Given the description of an element on the screen output the (x, y) to click on. 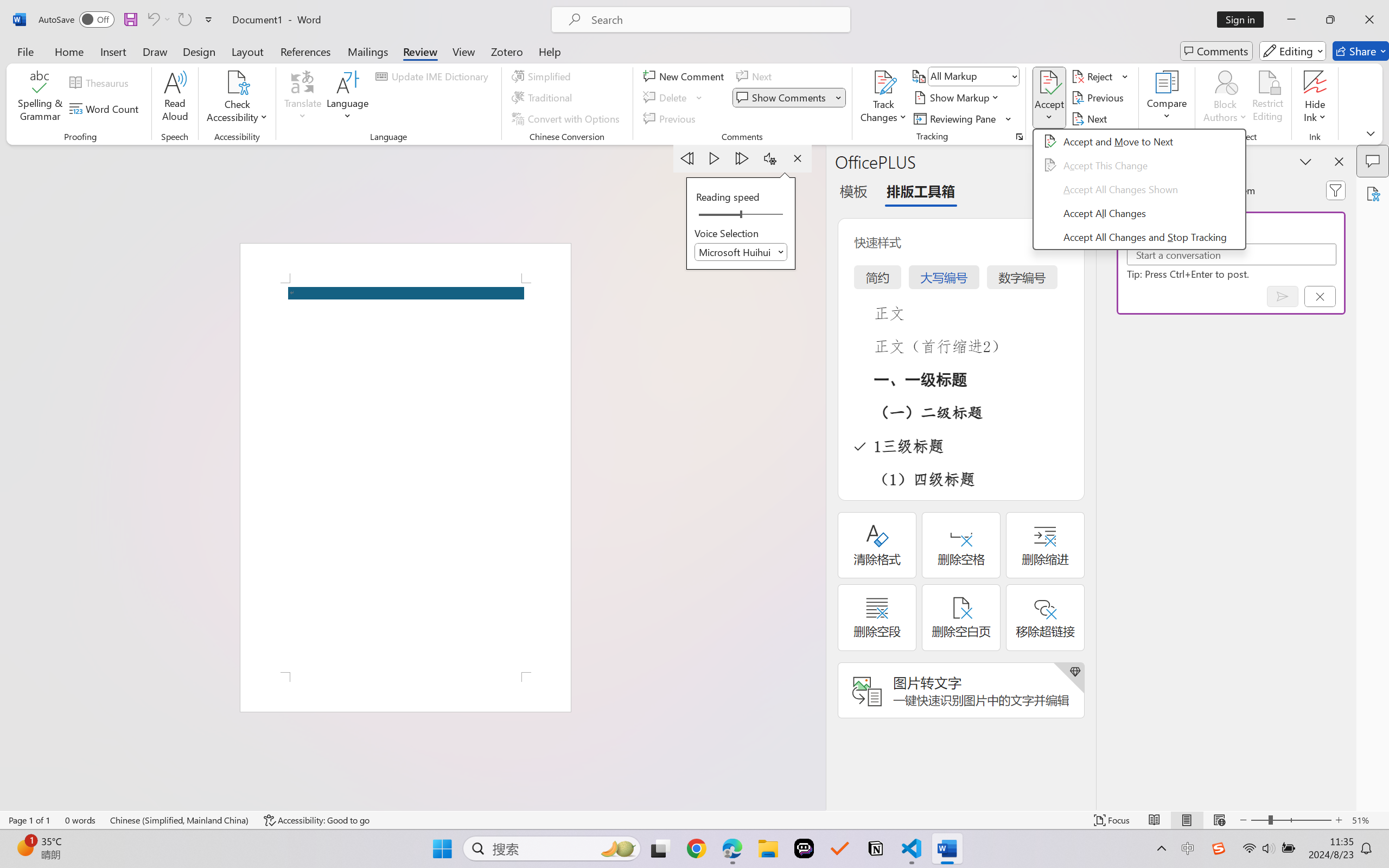
Read Aloud (174, 97)
Google Chrome (696, 848)
Next Paragraph (743, 158)
